Given the description of an element on the screen output the (x, y) to click on. 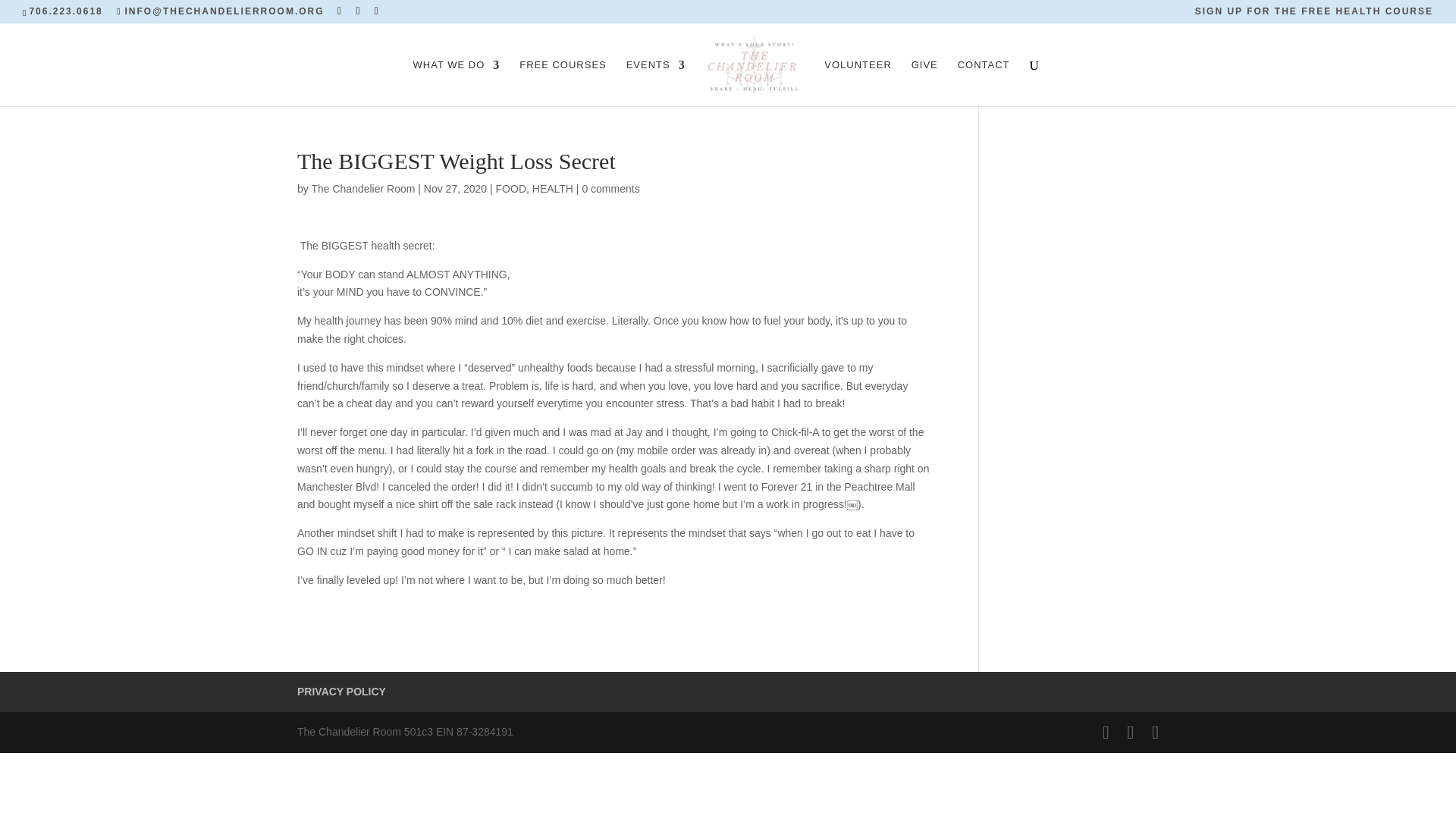
The Chandelier Room (362, 188)
SIGN UP FOR THE FREE HEALTH COURSE (1313, 14)
PRIVACY POLICY (341, 691)
WHAT WE DO (456, 82)
HEALTH (552, 188)
FOOD (510, 188)
FREE COURSES (563, 82)
VOLUNTEER (857, 82)
EVENTS (655, 82)
0 comments (609, 188)
